Given the description of an element on the screen output the (x, y) to click on. 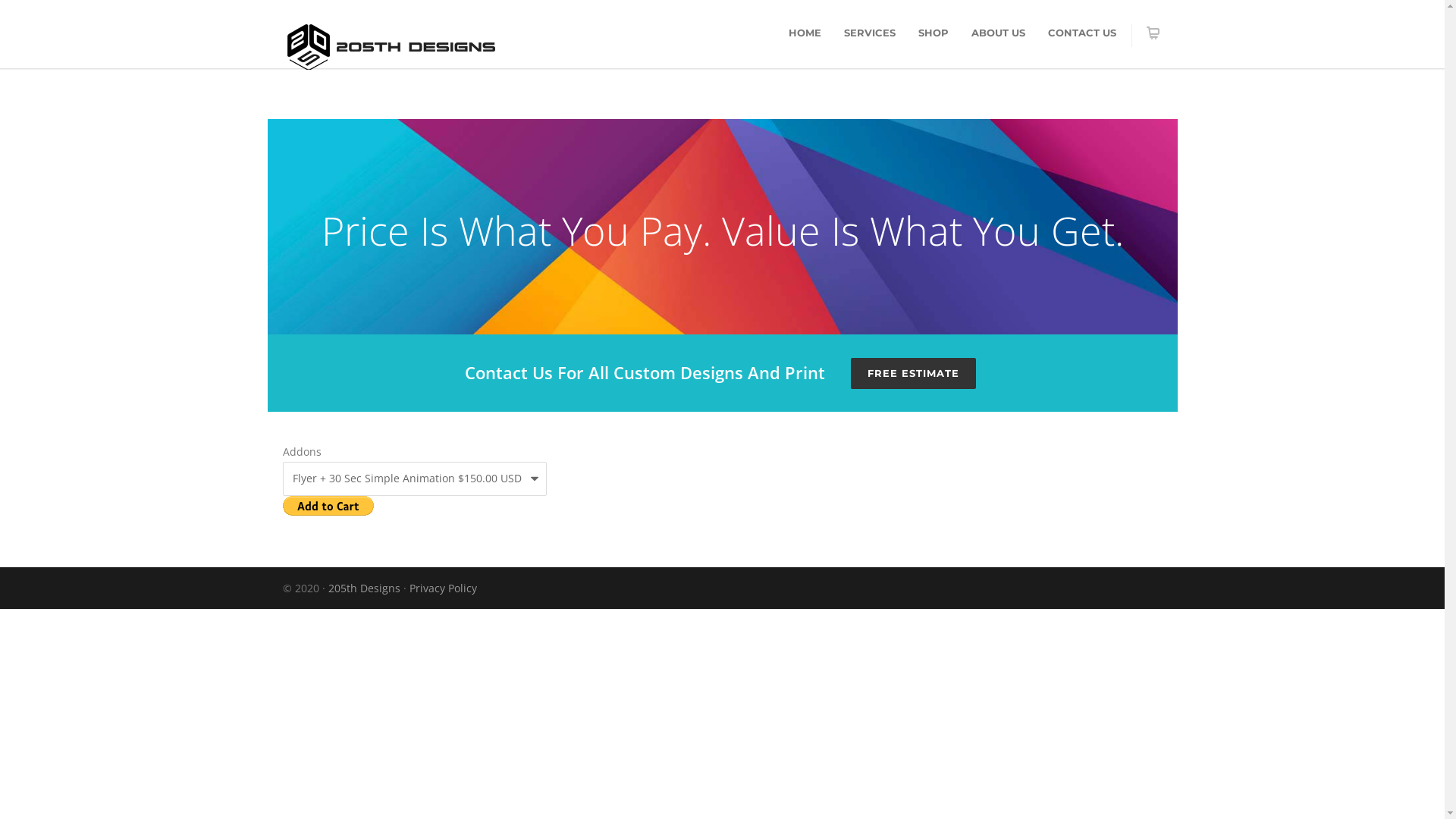
SHOP Element type: text (933, 32)
FREE ESTIMATE Element type: text (912, 373)
CONTACT US Element type: text (1080, 32)
HOME Element type: text (803, 32)
Privacy Policy Element type: text (442, 587)
SERVICES Element type: text (869, 32)
ABOUT US Element type: text (998, 32)
205th Designs Element type: text (363, 587)
